Given the description of an element on the screen output the (x, y) to click on. 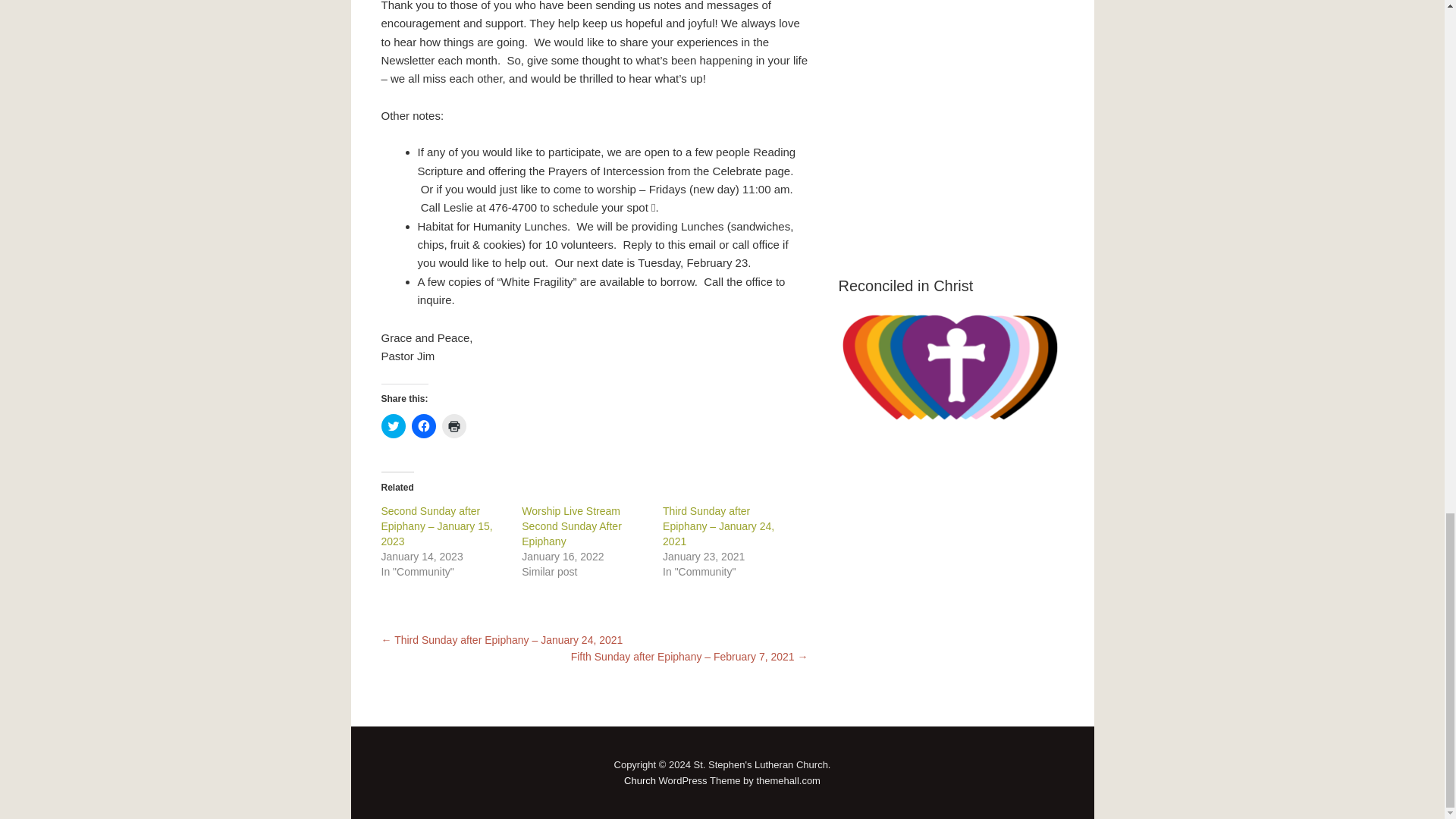
Click to share on Facebook (422, 426)
Worship Live Stream Second Sunday After Epiphany (571, 526)
Click to print (453, 426)
Church WordPress Theme (640, 780)
Click to share on Twitter (392, 426)
Worship Live Stream Second Sunday After Epiphany (571, 526)
Church (640, 780)
